Given the description of an element on the screen output the (x, y) to click on. 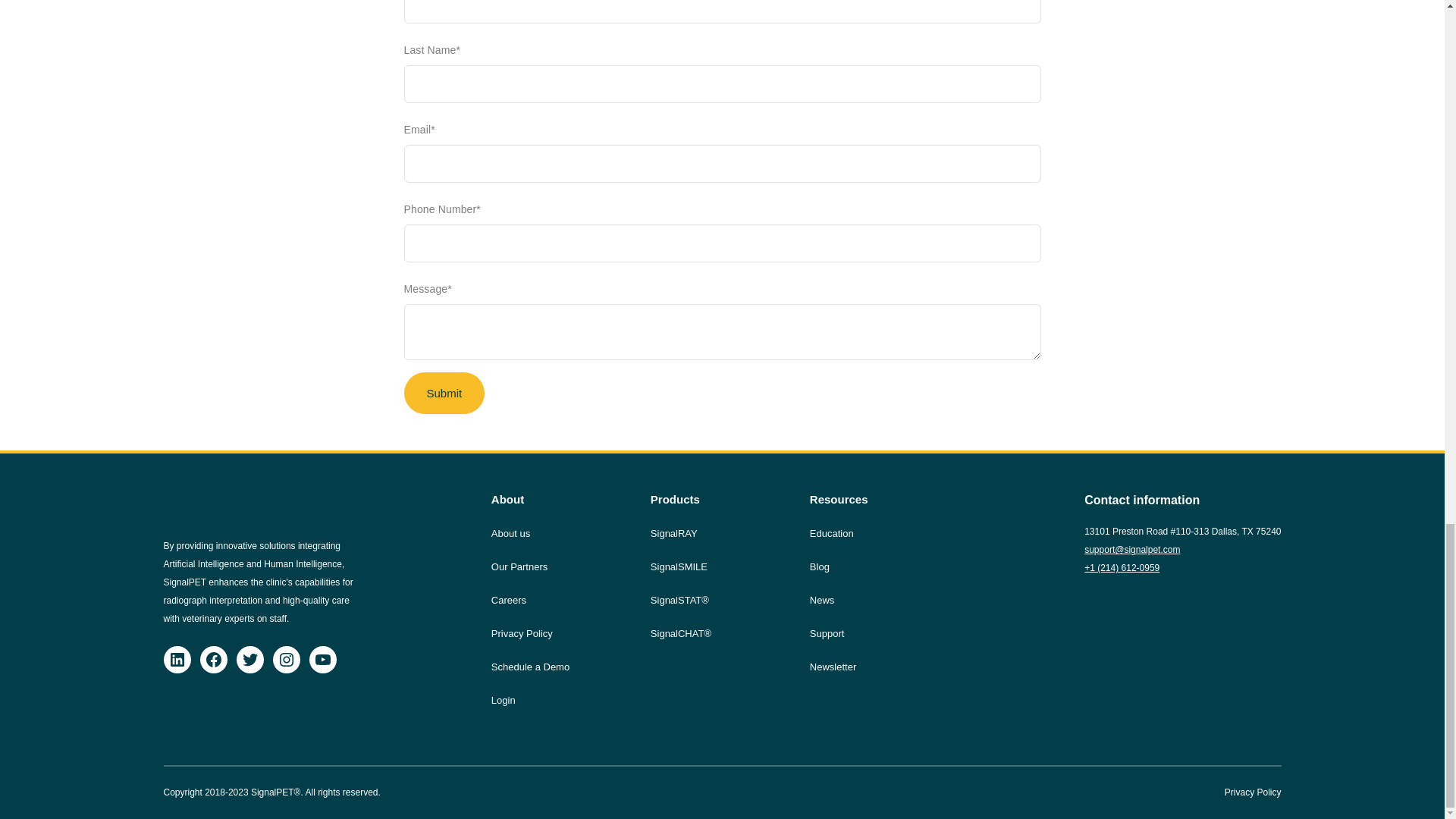
Twitter (249, 659)
LinkedIn (176, 659)
Privacy Policy (522, 633)
SignalSMILE (678, 566)
Facebook (213, 659)
Schedule a Demo (530, 667)
Careers (508, 600)
Education (831, 533)
About us (510, 533)
Instagram (286, 659)
Submit (443, 393)
Our Partners (519, 566)
Login (503, 700)
YouTube (322, 659)
Submit (443, 393)
